Given the description of an element on the screen output the (x, y) to click on. 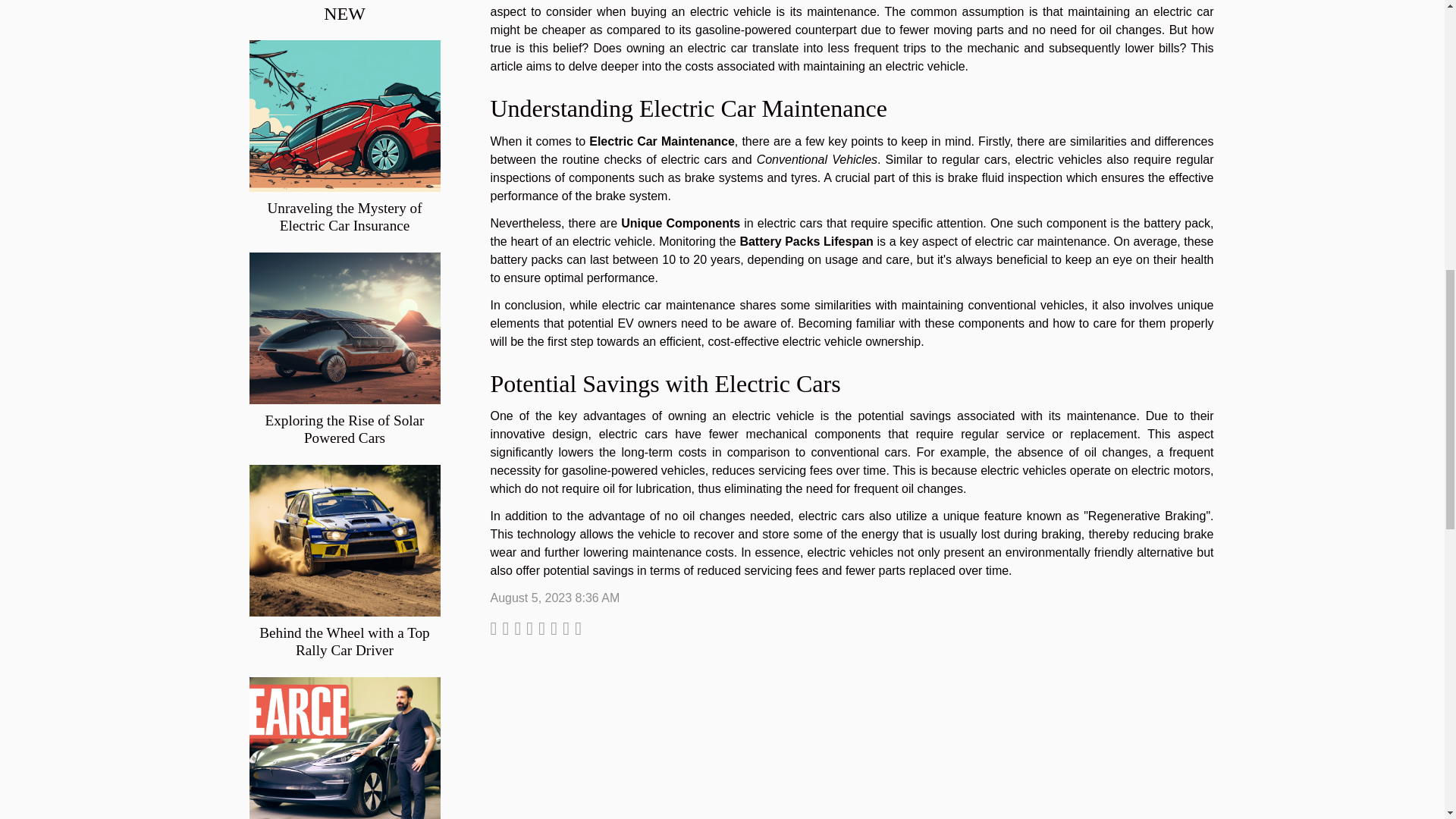
Exploring the Rise of Solar Powered Cars (344, 428)
Exploring the Rise of Solar Powered Cars (344, 428)
Electric Car Maintenance: Is it Really Cheaper? (343, 752)
Behind the Wheel with a Top Rally Car Driver (344, 641)
Unraveling the Mystery of Electric Car Insurance (344, 216)
Exploring the Rise of Solar Powered Cars (343, 327)
Behind the Wheel with a Top Rally Car Driver (343, 540)
Behind the Wheel with a Top Rally Car Driver (344, 641)
Unraveling the Mystery of Electric Car Insurance (344, 216)
Unraveling the Mystery of Electric Car Insurance (343, 114)
